Given the description of an element on the screen output the (x, y) to click on. 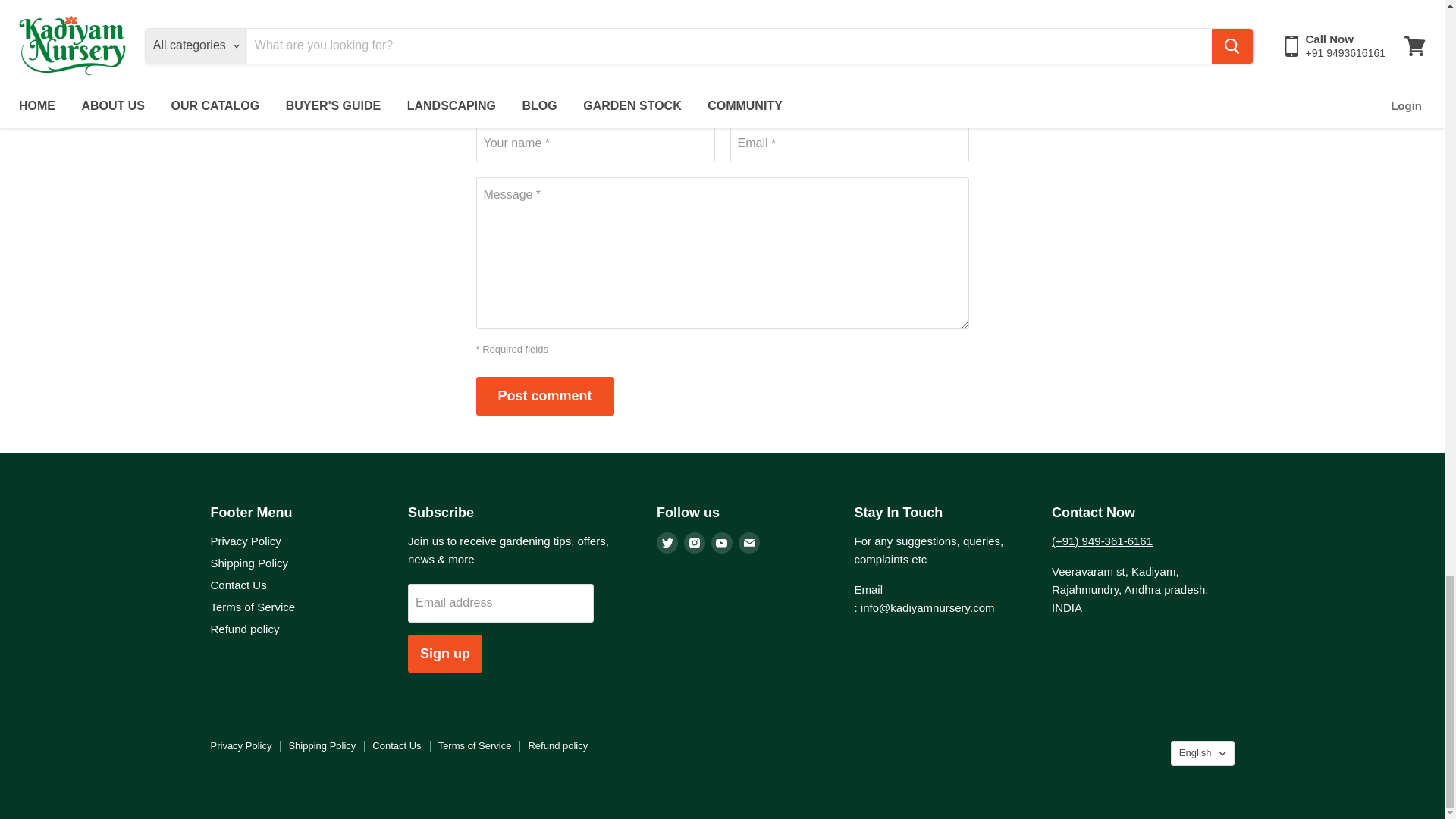
Twitter (667, 542)
Email (749, 542)
Instagram (694, 542)
Youtube (721, 542)
